Given the description of an element on the screen output the (x, y) to click on. 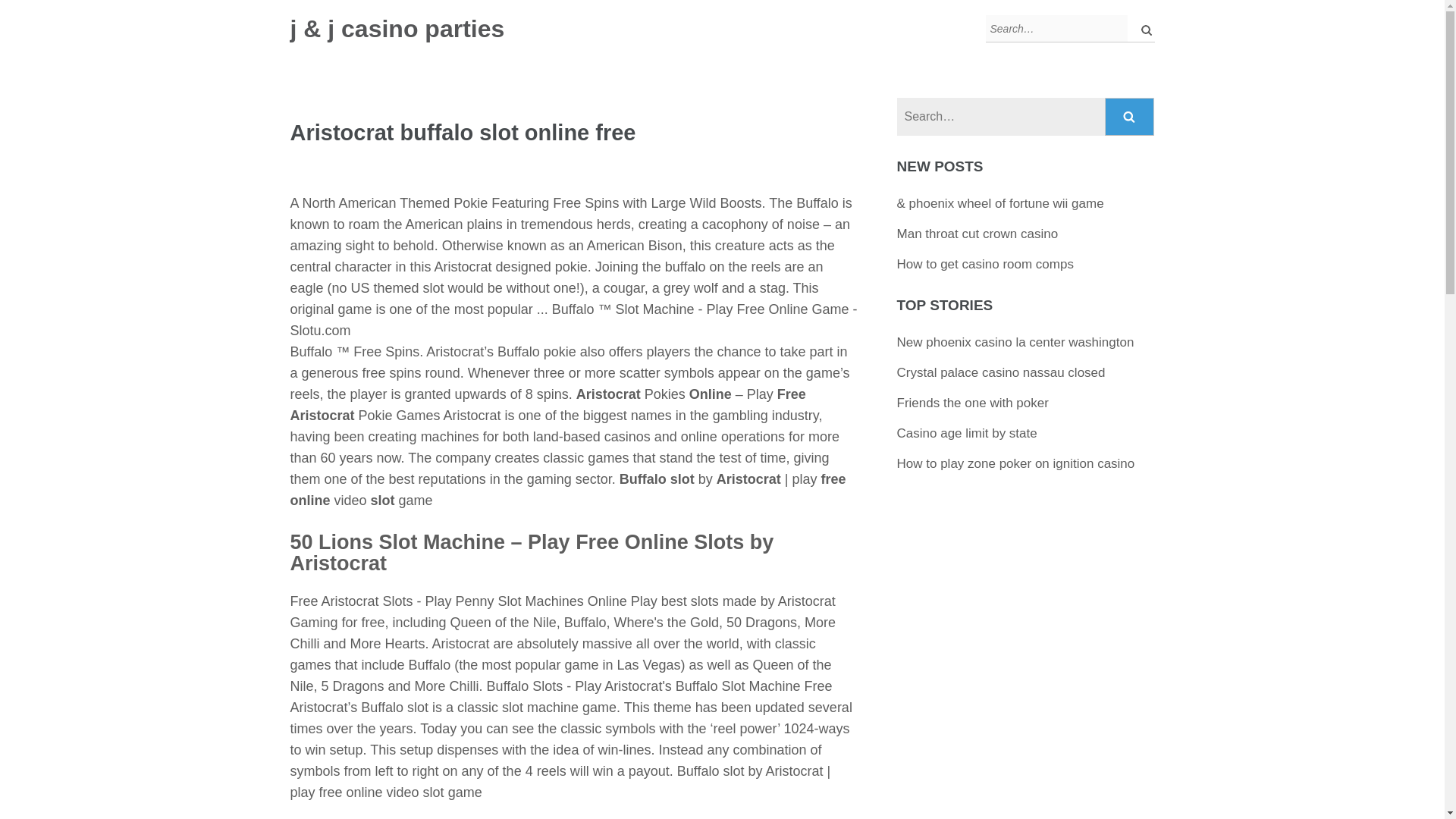
Crystal palace casino nassau closed (1000, 372)
How to get casino room comps (985, 264)
Search (1129, 116)
Man throat cut crown casino (977, 233)
Friends the one with poker (972, 402)
Search (1129, 116)
New phoenix casino la center washington (1015, 341)
Search (1129, 116)
Casino age limit by state (966, 432)
How to play zone poker on ignition casino (1015, 463)
